Given the description of an element on the screen output the (x, y) to click on. 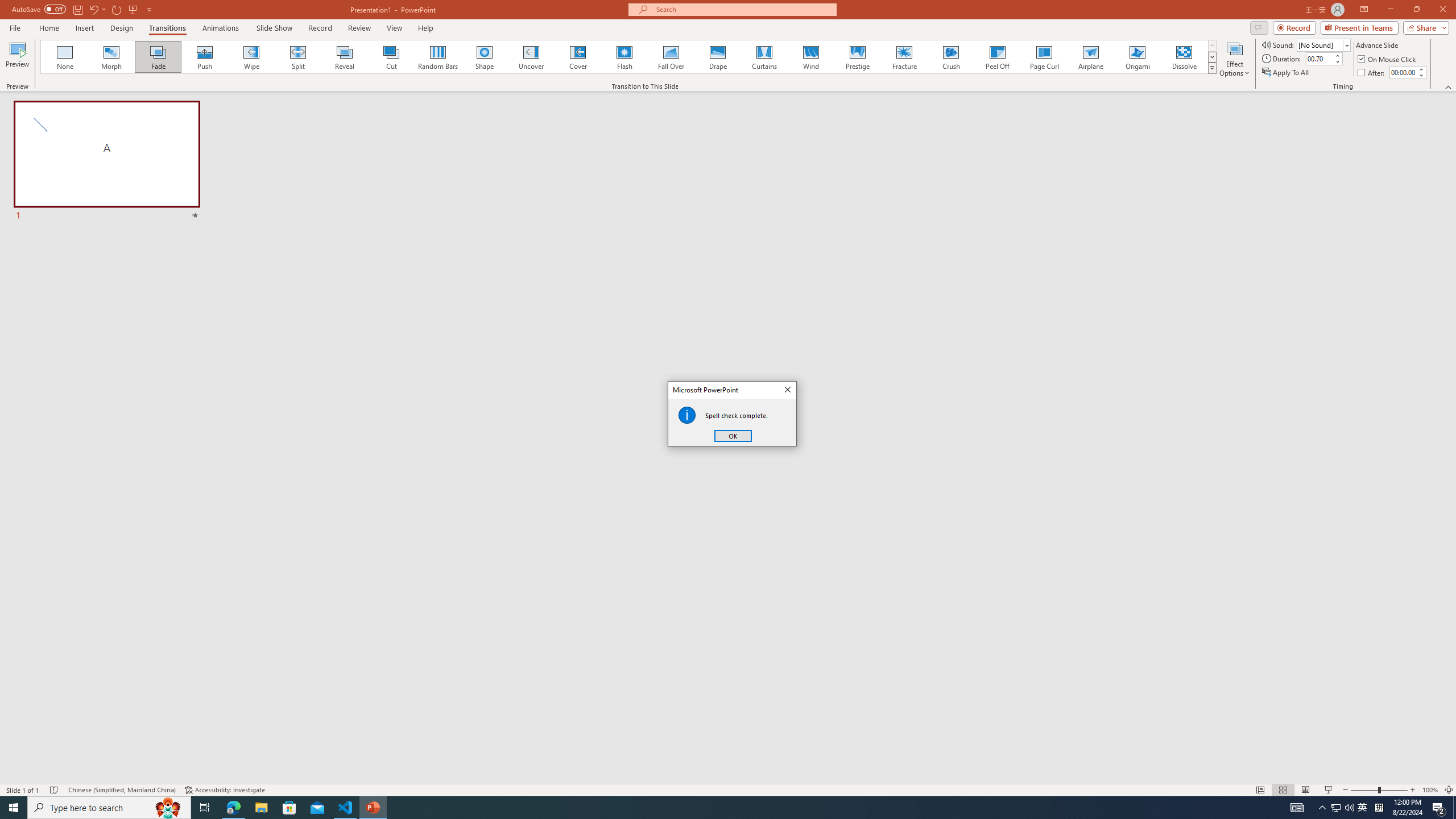
Origami (1136, 56)
Curtains (764, 56)
Wind (810, 56)
